Given the description of an element on the screen output the (x, y) to click on. 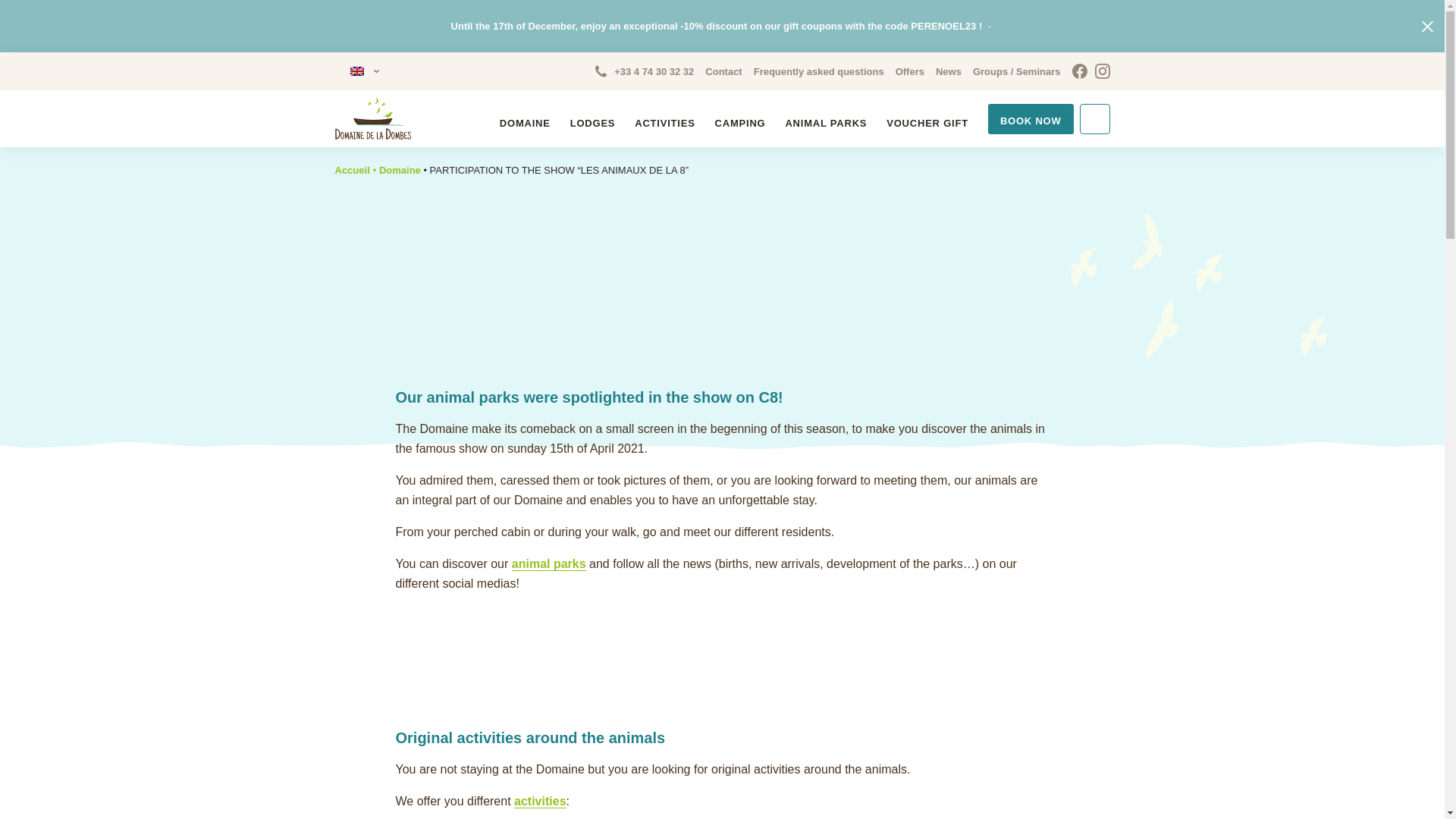
Frequently asked questions (818, 71)
ANIMAL PARKS (825, 123)
Offers (909, 71)
DOMAINE (524, 123)
activities (539, 801)
ACTIVITIES (664, 123)
Visitez notre page Facebook. Ouverture dans un nouvel onglet (1079, 70)
Domaine (399, 170)
CAMPING (739, 123)
animal parks (549, 563)
